Given the description of an element on the screen output the (x, y) to click on. 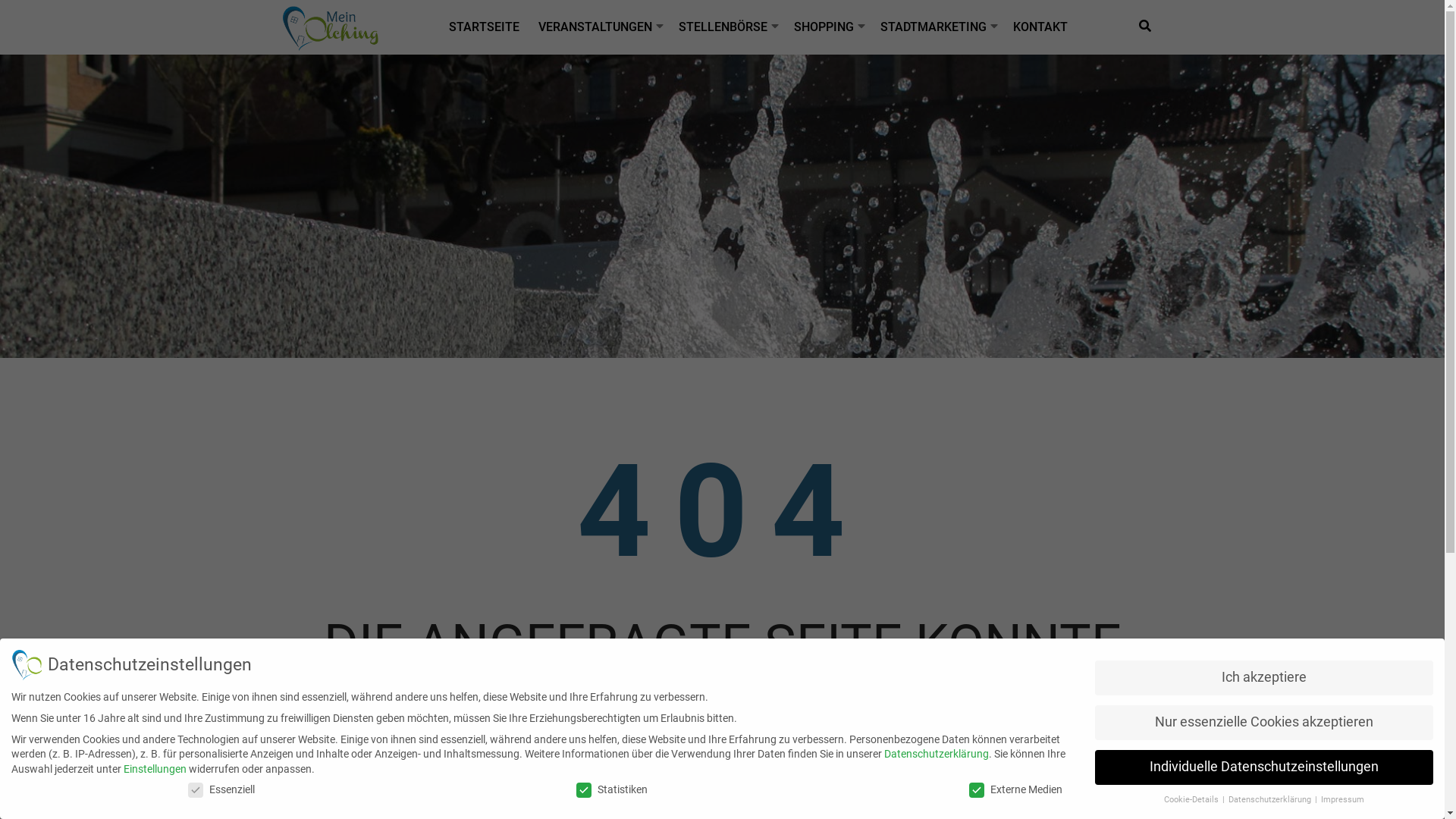
VERANSTALTUNGEN Element type: text (596, 27)
Nur essenzielle Cookies akzeptieren Element type: text (1264, 722)
SHOPPING Element type: text (824, 27)
Individuelle Datenschutzeinstellungen Element type: text (1264, 766)
KONTAKT Element type: text (1042, 27)
Ich akzeptiere Element type: text (1264, 677)
Einstellungen Element type: text (154, 768)
STARTSEITE Element type: text (485, 27)
Impressum Element type: text (1342, 799)
Cookie-Details Element type: text (1192, 799)
STADTMARKETING Element type: text (934, 27)
